Given the description of an element on the screen output the (x, y) to click on. 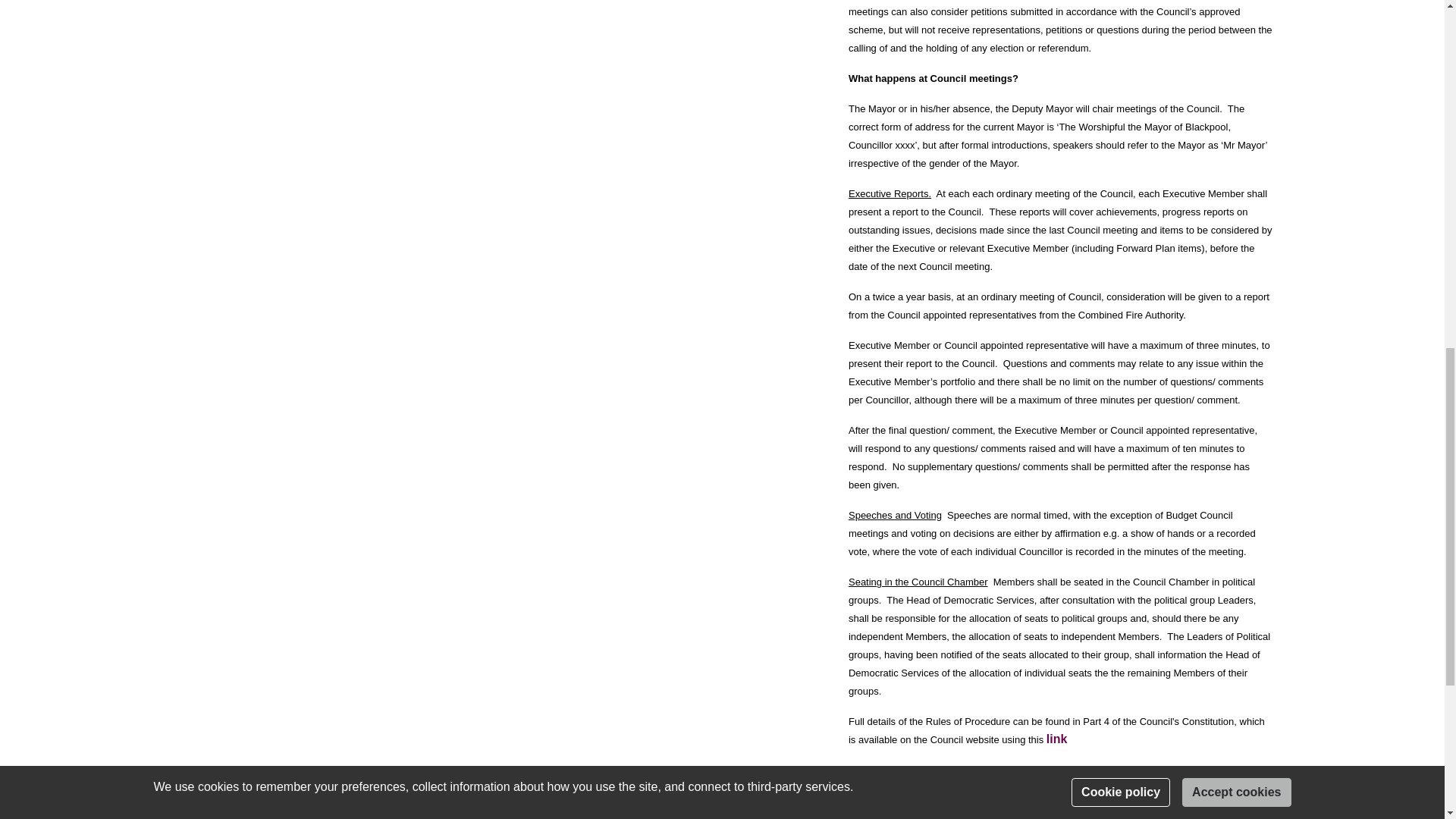
link (1056, 738)
